Given the description of an element on the screen output the (x, y) to click on. 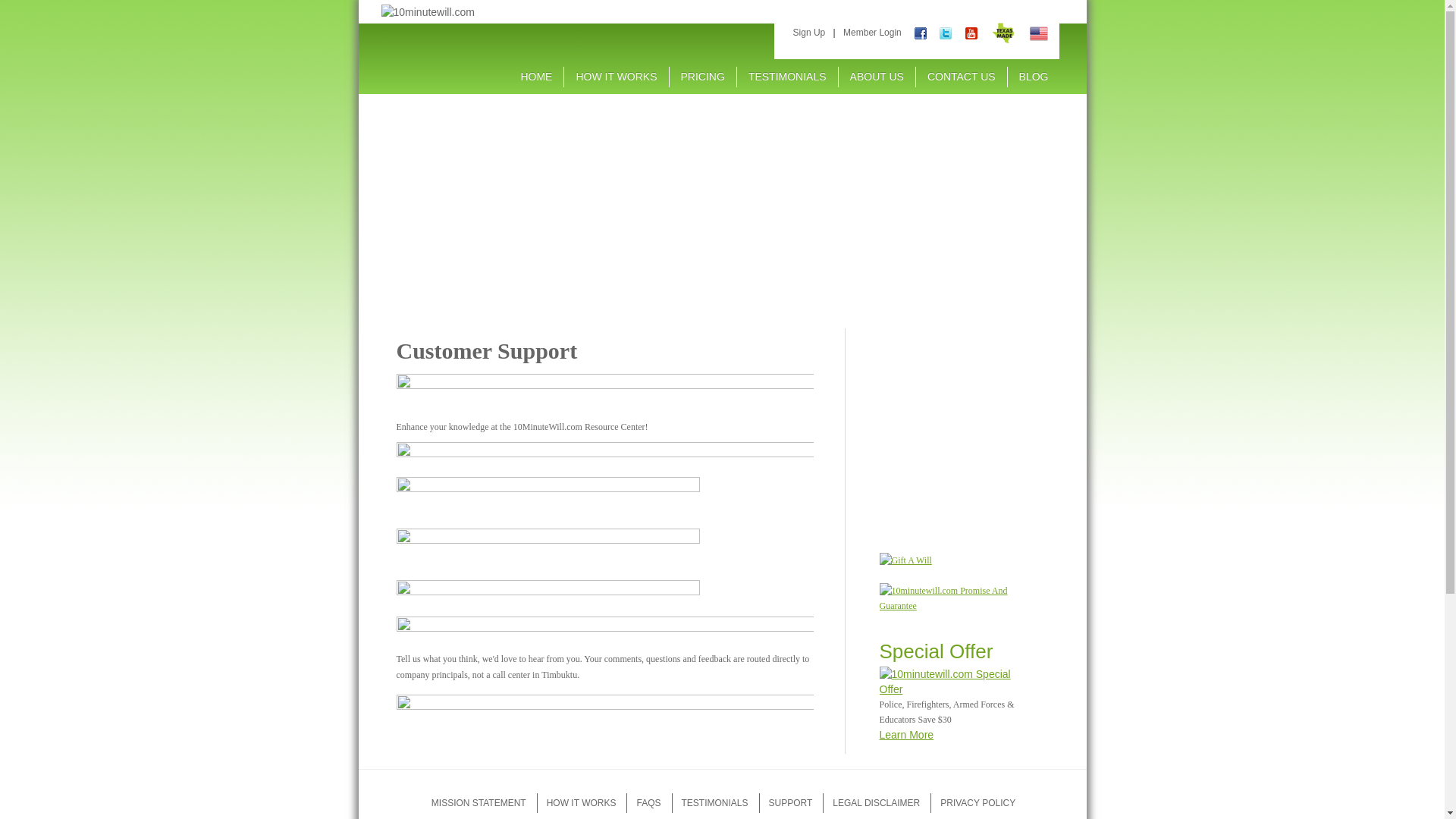
LEGAL DISCLAIMER Element type: text (875, 802)
BLOG Element type: text (1033, 76)
CONTACT US Element type: text (961, 76)
MISSION STATEMENT Element type: text (478, 802)
TESTIMONIALS Element type: text (713, 802)
HOME Element type: text (535, 76)
TESTIMONIALS Element type: text (787, 76)
Learn More Element type: text (906, 734)
SUPPORT Element type: text (790, 802)
HOW IT WORKS Element type: text (581, 802)
10minutewill.com Special Offer Element type: hover (951, 681)
Sign Up Element type: text (809, 32)
FAQS Element type: text (648, 802)
10minutewill.com Promise And Guarantee Element type: hover (951, 598)
PRIVACY POLICY Element type: text (977, 802)
ABOUT US Element type: text (876, 76)
PRICING Element type: text (702, 76)
Gift A Will Element type: hover (905, 559)
HOW IT WORKS Element type: text (616, 76)
Member Login Element type: text (872, 32)
